Given the description of an element on the screen output the (x, y) to click on. 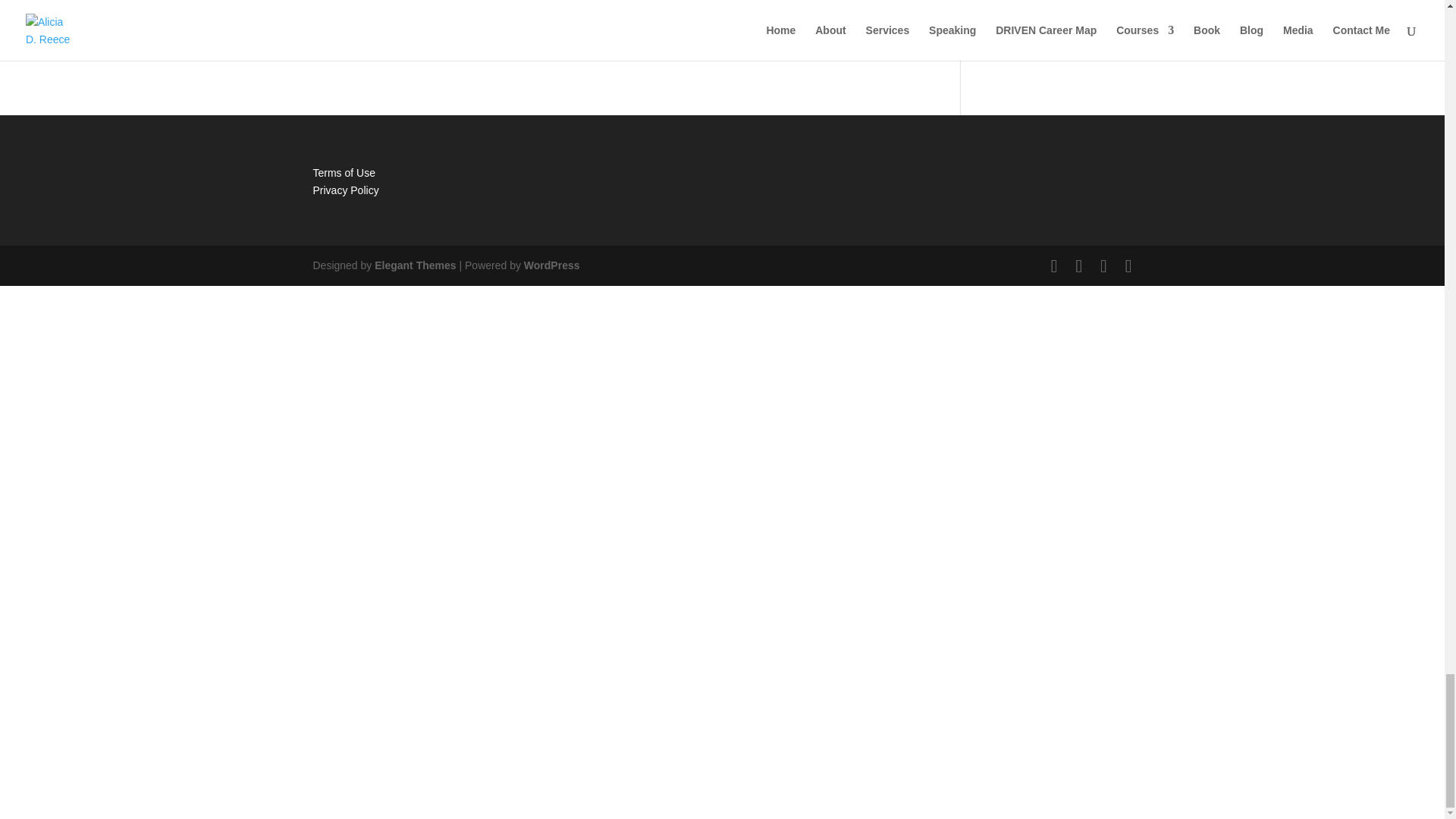
Elegant Themes (414, 265)
WordPress (551, 265)
Terms of Use (343, 173)
Premium WordPress Themes (414, 265)
Privacy Policy (345, 190)
